Given the description of an element on the screen output the (x, y) to click on. 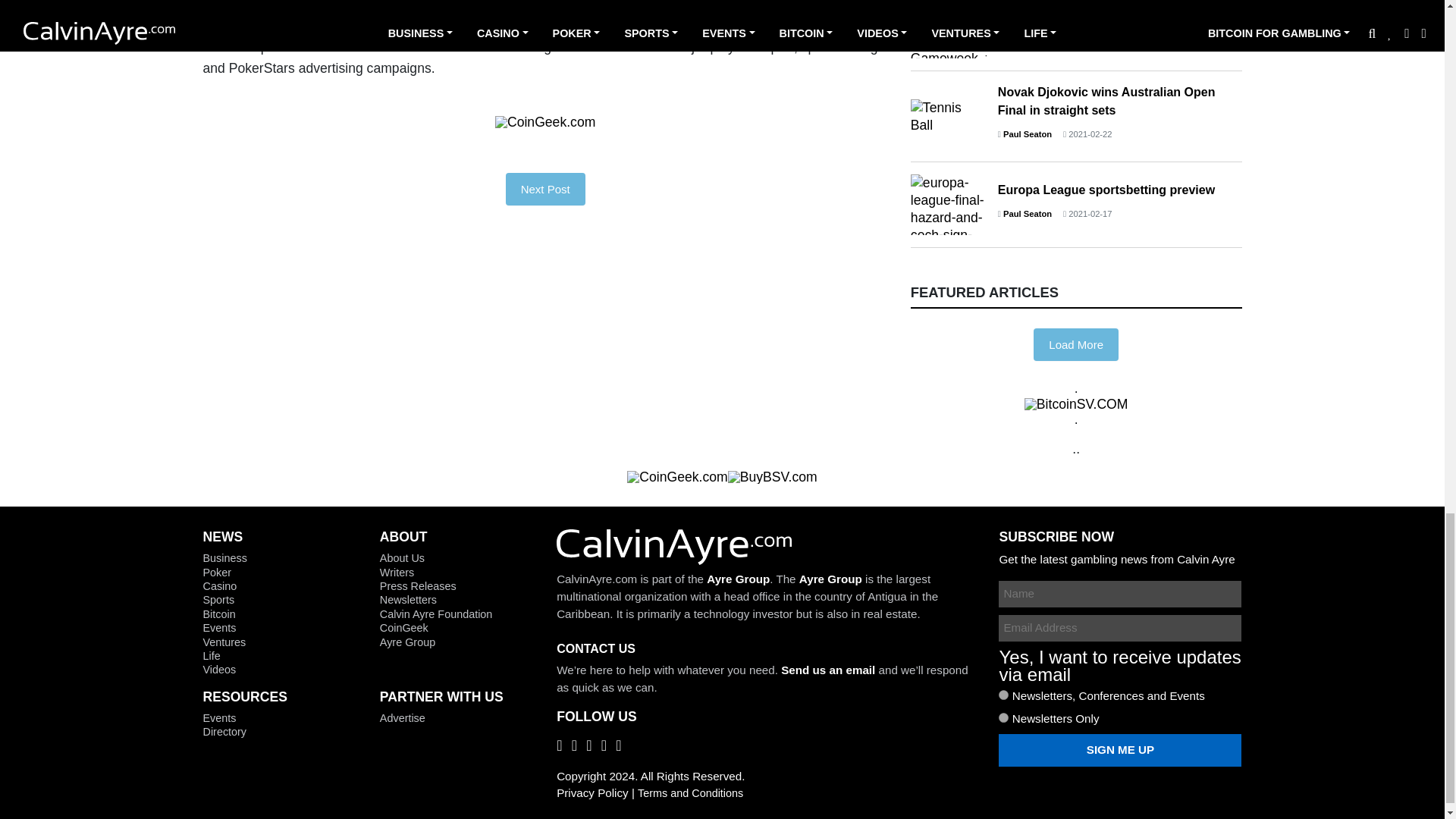
Newsletters, Conferences and Events (1003, 695)
Newsletters Only (1003, 717)
